Given the description of an element on the screen output the (x, y) to click on. 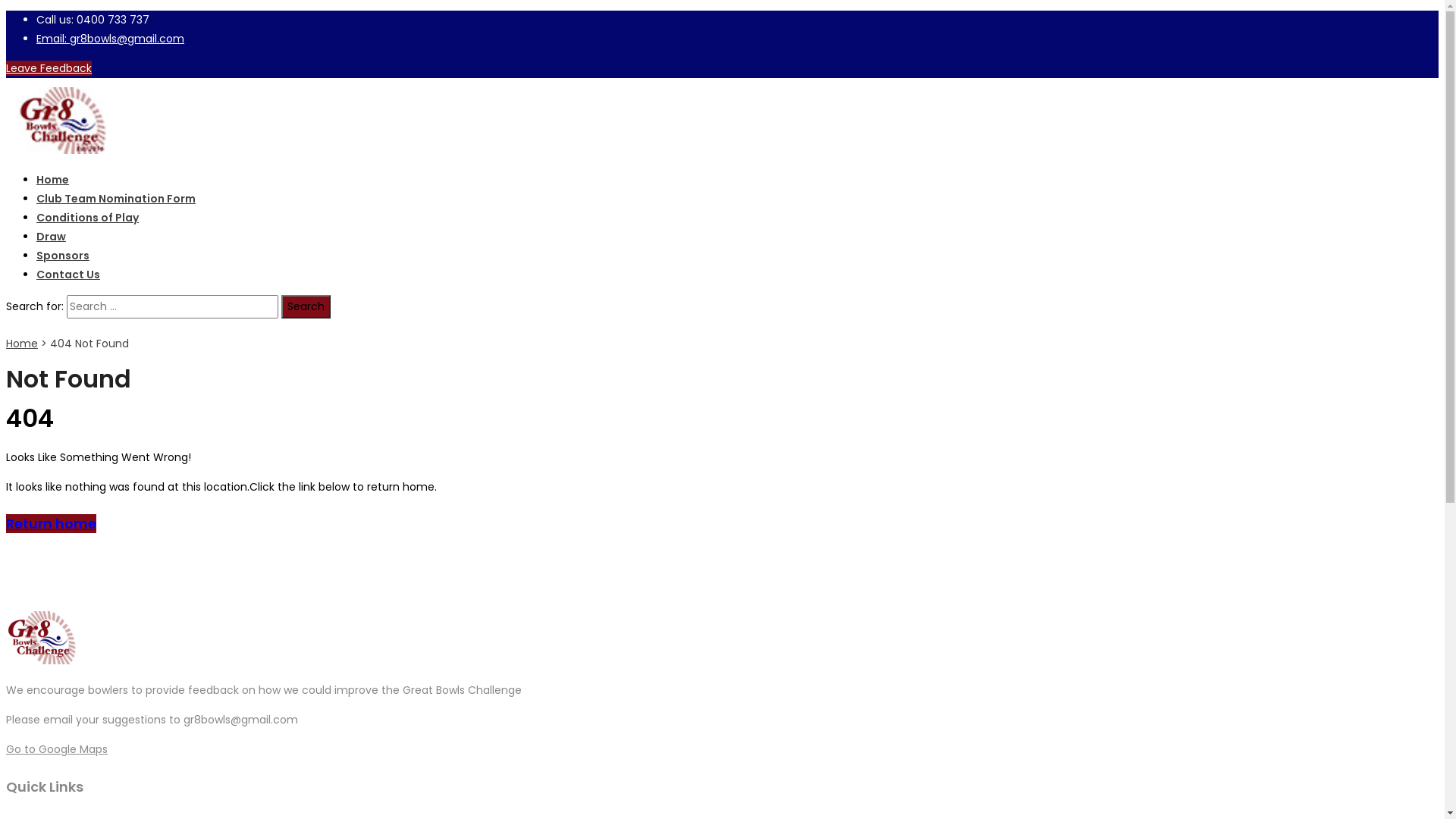
Home Element type: text (52, 179)
Great Bowls Challenge Element type: hover (61, 149)
Return home Element type: text (51, 523)
Leave Feedback Element type: text (48, 67)
Email: gr8bowls@gmail.com Element type: text (110, 38)
Contact Us Element type: text (68, 274)
Club Team Nomination Form Element type: text (115, 198)
Search Element type: text (305, 306)
Go to Google Maps Element type: text (56, 748)
Conditions of Play Element type: text (87, 217)
Sponsors Element type: text (62, 255)
Home Element type: text (21, 343)
Draw Element type: text (50, 236)
Financial Occult Element type: hover (41, 689)
